Given the description of an element on the screen output the (x, y) to click on. 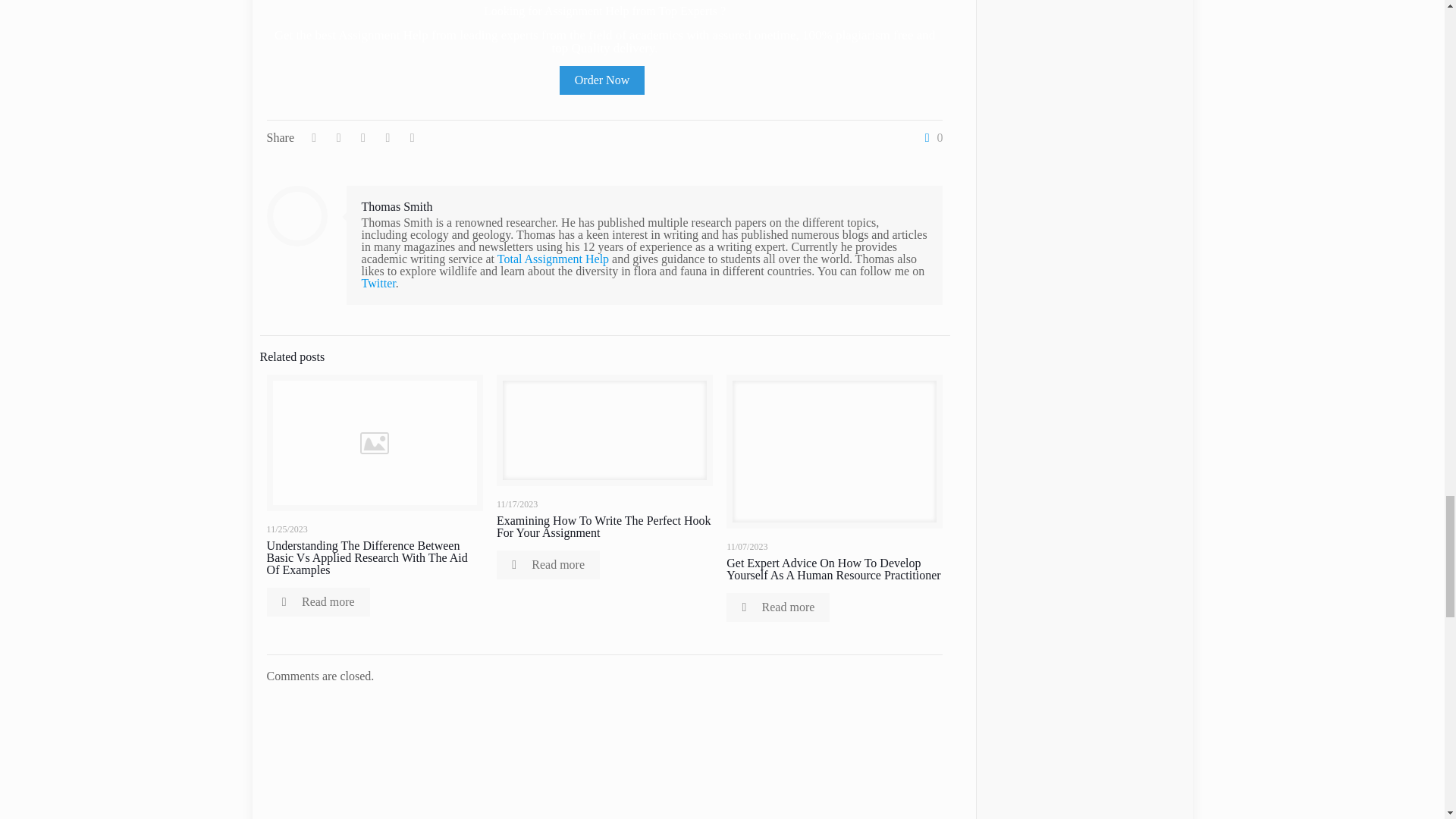
Read more (777, 606)
Read more (317, 602)
Thomas Smith (396, 205)
Read more (547, 564)
0 (930, 137)
Total Assignment Help (552, 258)
Examining How To Write The Perfect Hook For Your Assignment (603, 526)
Twitter (378, 282)
Order Now (602, 80)
